Given the description of an element on the screen output the (x, y) to click on. 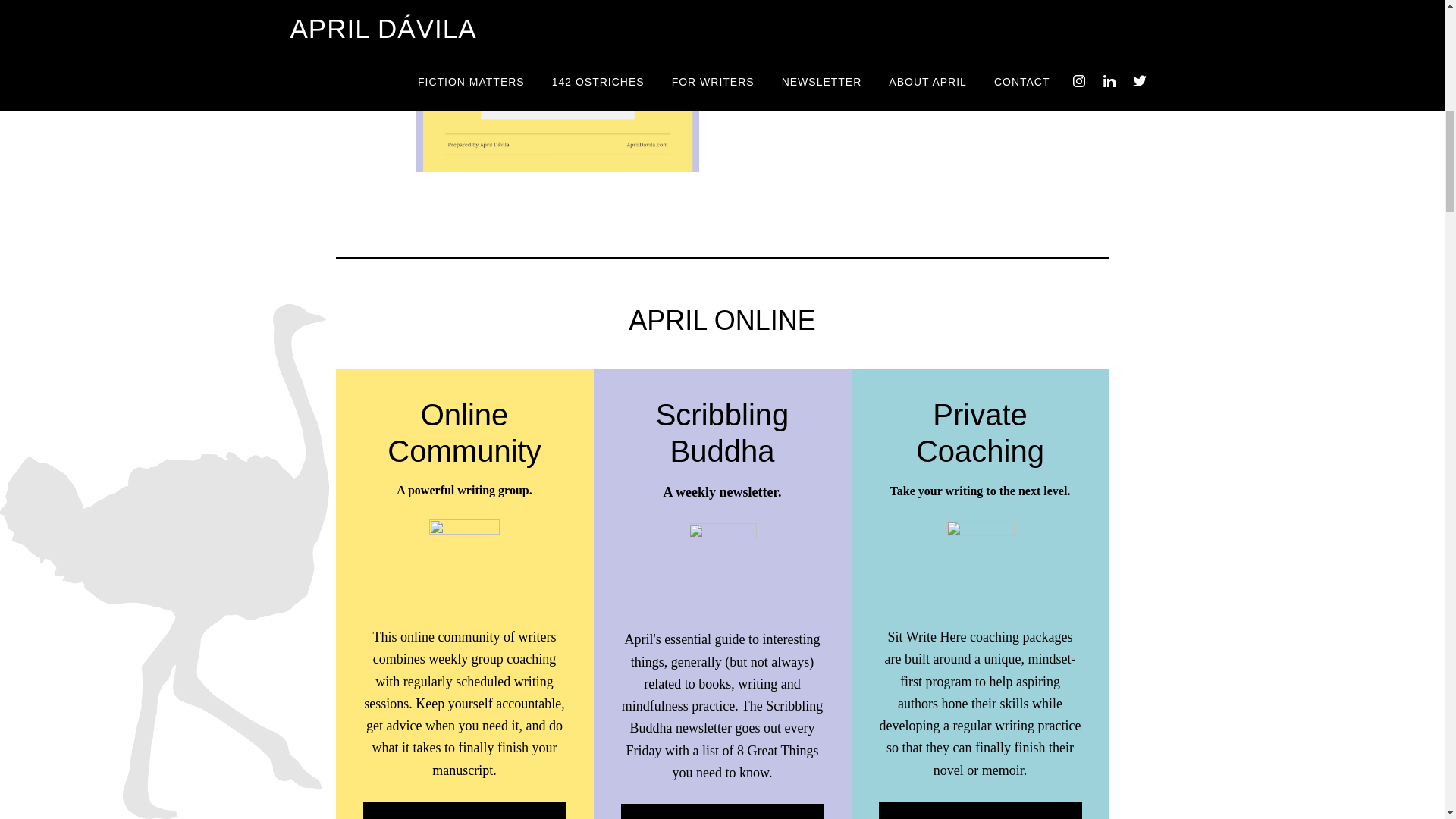
GET THE GUIDE (805, 10)
Scribbling Buddha newsletter (863, 65)
Learn More (979, 810)
Pg 1 of PDF freebie - Write More Suffer Less (556, 85)
Learn More (722, 811)
Learn More (464, 810)
